Given the description of an element on the screen output the (x, y) to click on. 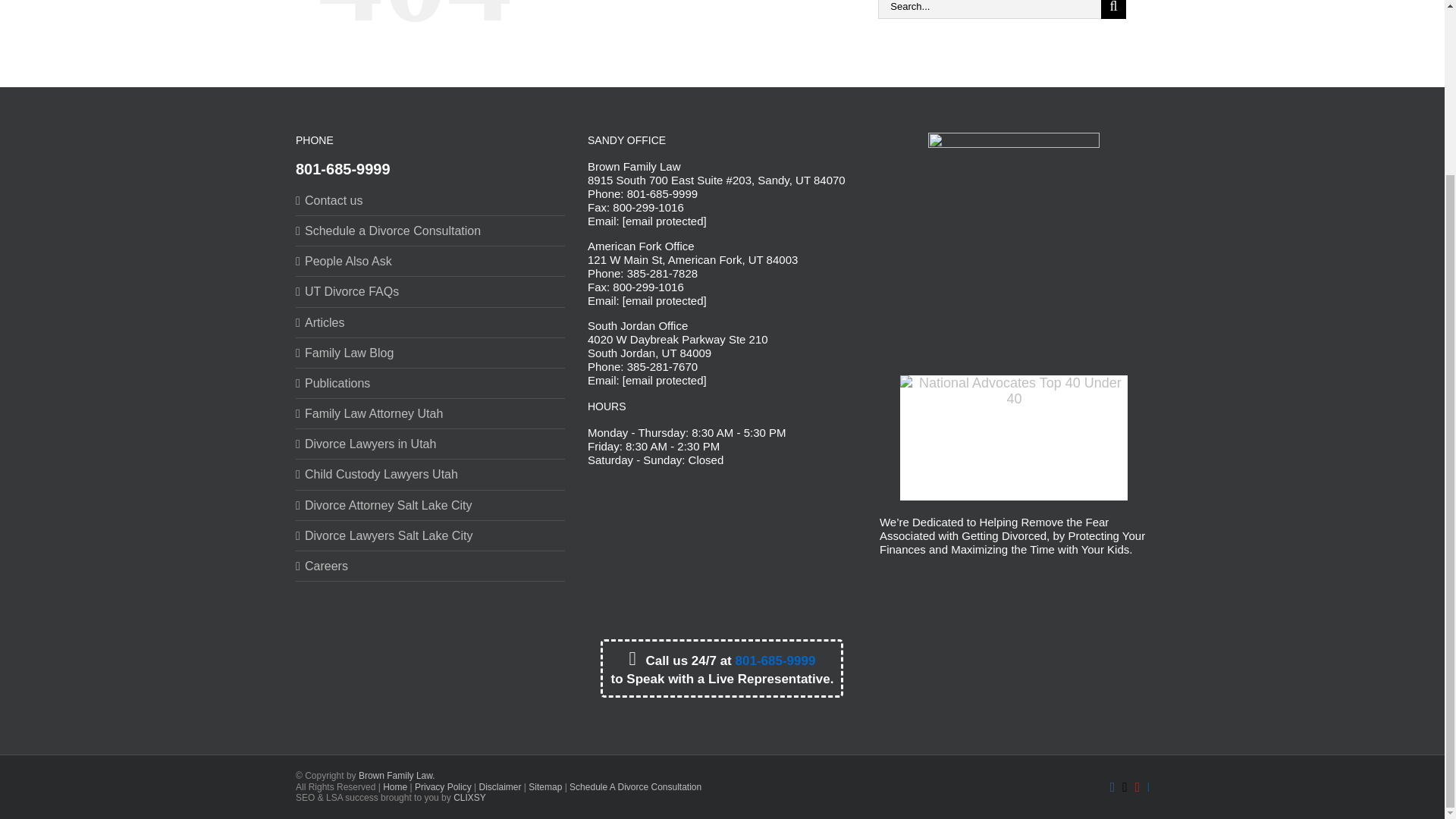
Divorce Lawyers Salt Lake City (430, 535)
Contact us (430, 200)
Family Law Attorney Utah (430, 413)
Schedule a Divorce Consultation (430, 230)
Articles (430, 322)
Careers (430, 565)
Child Custody Lawyers Utah (430, 473)
UT Divorce FAQs (430, 291)
People Also Ask (430, 260)
